Given the description of an element on the screen output the (x, y) to click on. 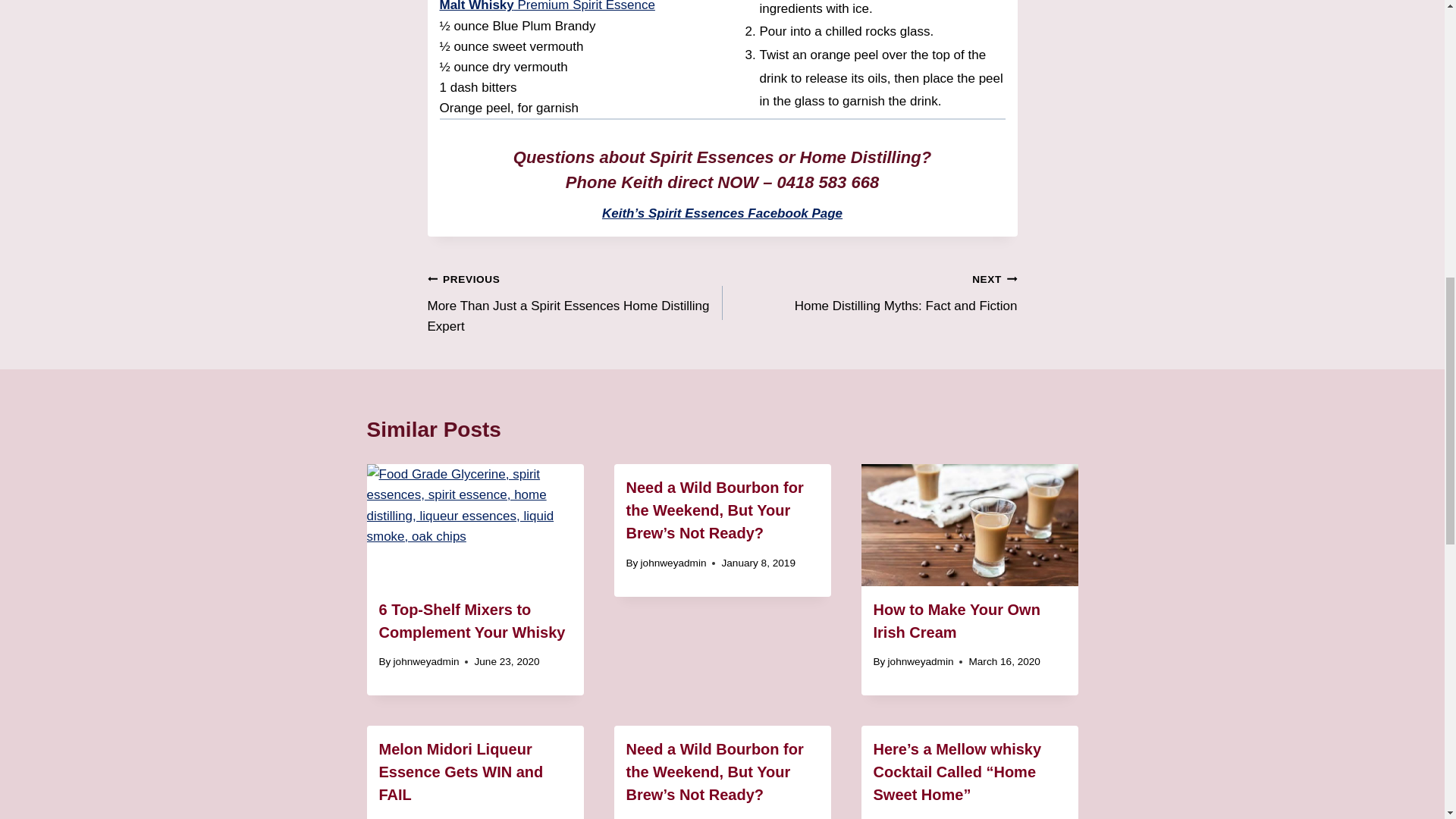
6 Top-Shelf Mixers to Complement Your Whisky (472, 620)
Grainge Single Malt Whisky Premium Spirit Essence (565, 6)
